Given the description of an element on the screen output the (x, y) to click on. 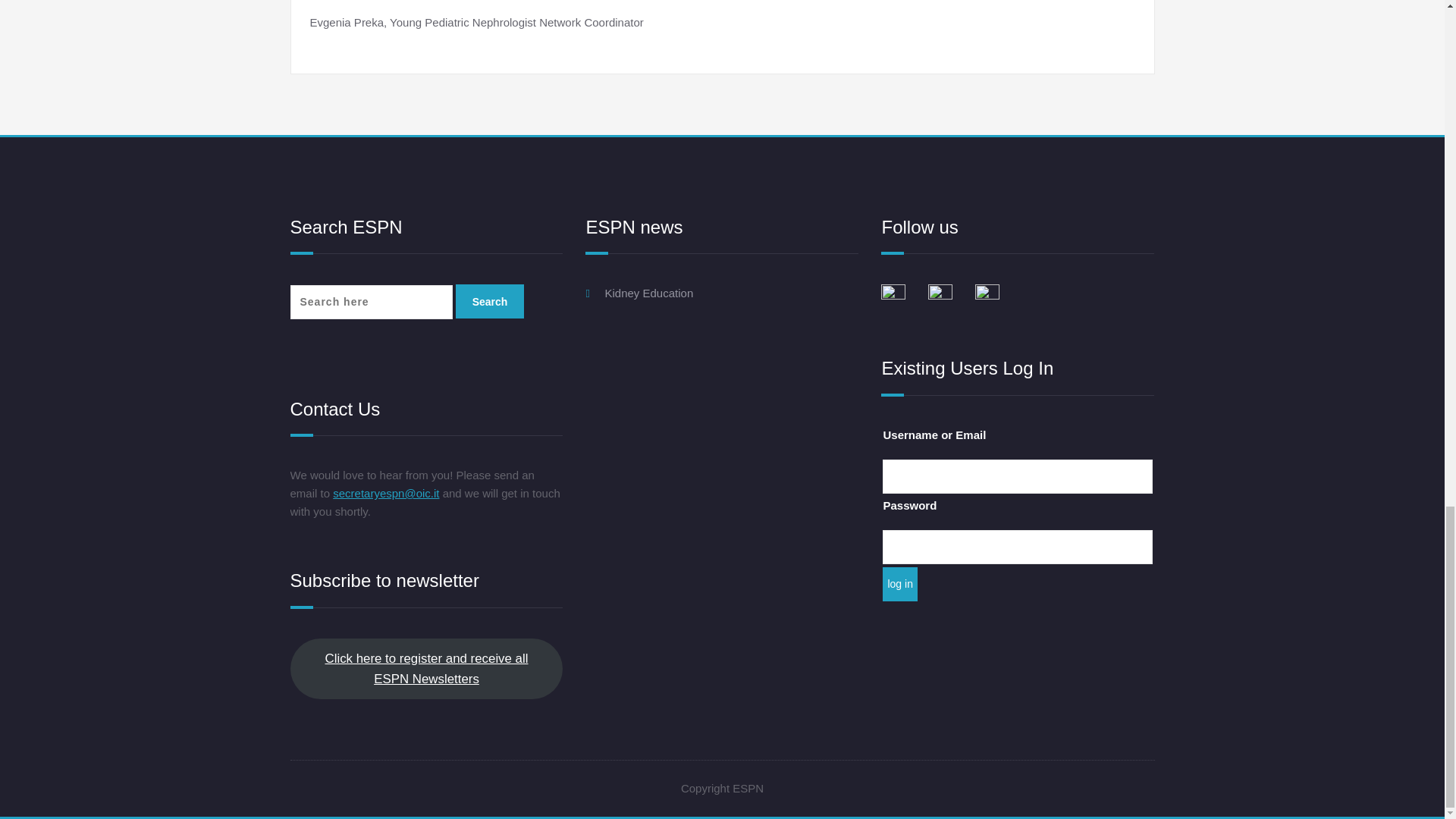
log in (899, 584)
Search (489, 301)
Search (489, 301)
